Given the description of an element on the screen output the (x, y) to click on. 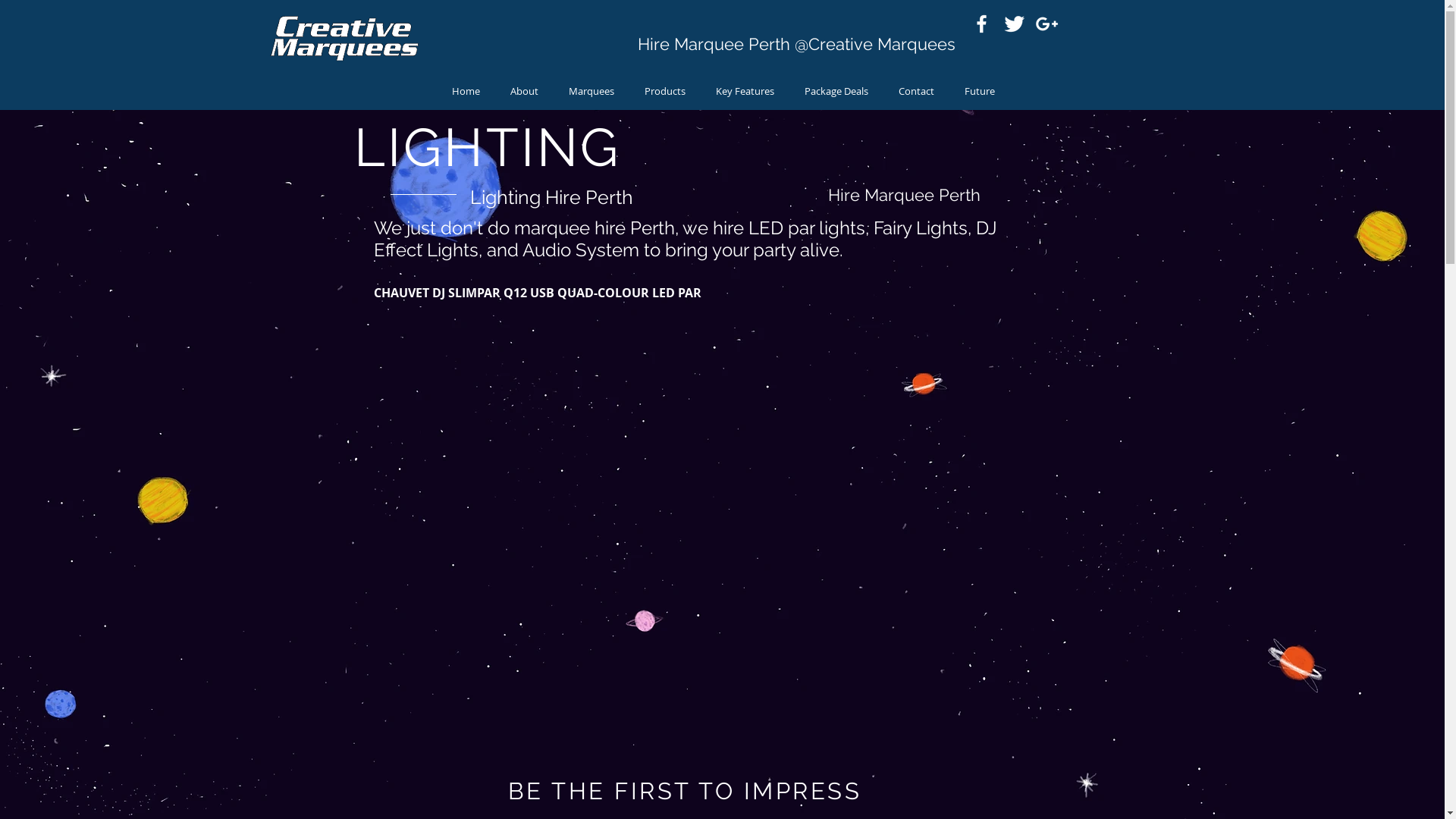
Future Element type: text (979, 90)
Package Deals Element type: text (835, 90)
hire marquee perth Element type: hover (342, 44)
Home Element type: text (465, 90)
Contact Element type: text (915, 90)
About Element type: text (523, 90)
